Given the description of an element on the screen output the (x, y) to click on. 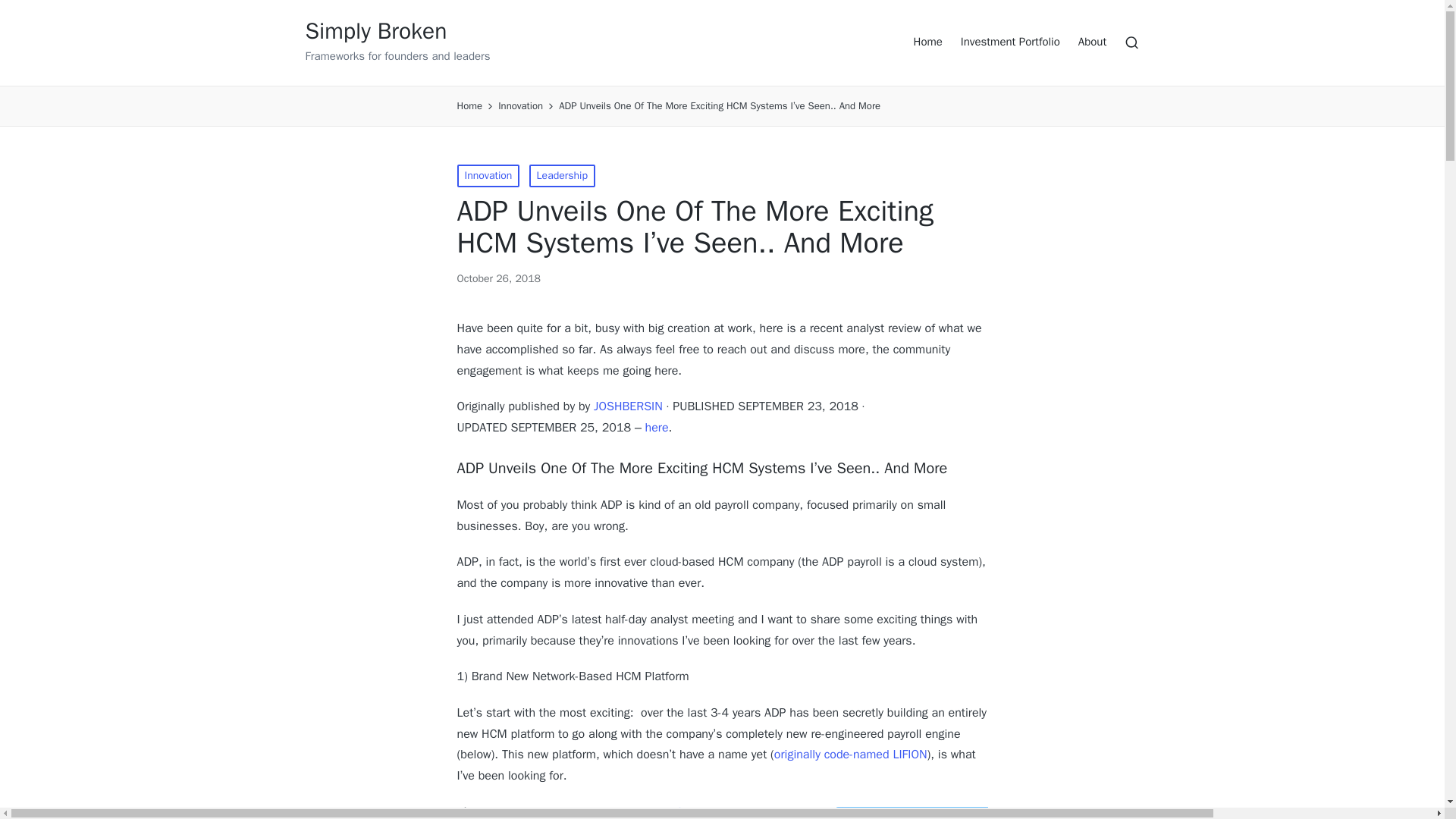
Investment Portfolio (1009, 42)
Innovation (488, 175)
here (656, 427)
Home (927, 42)
Leadership (562, 175)
Simply Broken (396, 31)
Graph Database (718, 811)
Innovation (520, 106)
originally code-named LIFION (850, 754)
Posts by joshbersin (628, 406)
